Given the description of an element on the screen output the (x, y) to click on. 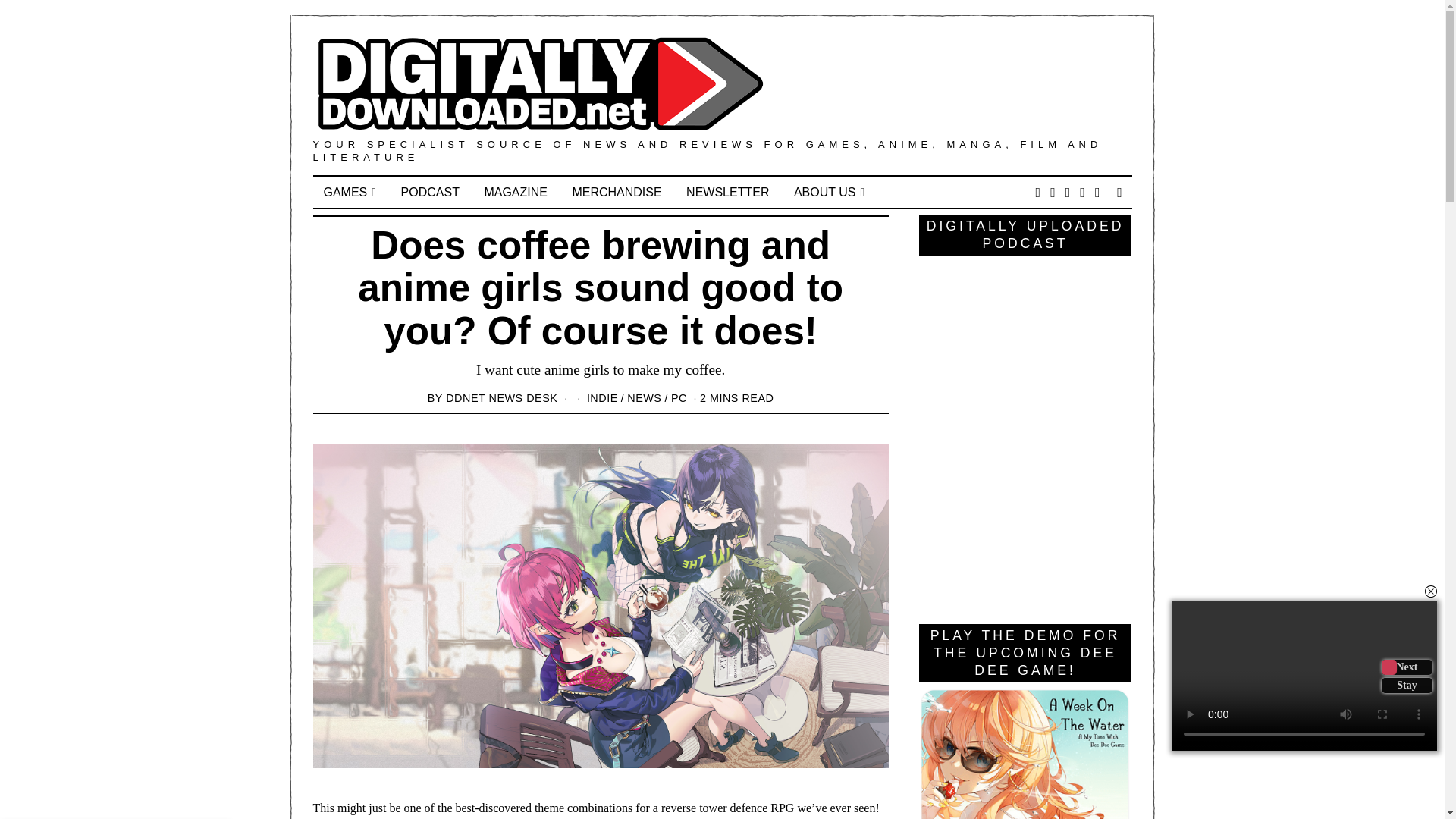
PC (679, 398)
DDNET NEWS DESK (501, 398)
NEWS (644, 398)
NEWSLETTER (726, 192)
ABOUT US (829, 192)
GAMES (350, 192)
INDIE (601, 398)
MERCHANDISE (615, 192)
PODCAST (430, 192)
MAGAZINE (515, 192)
